Given the description of an element on the screen output the (x, y) to click on. 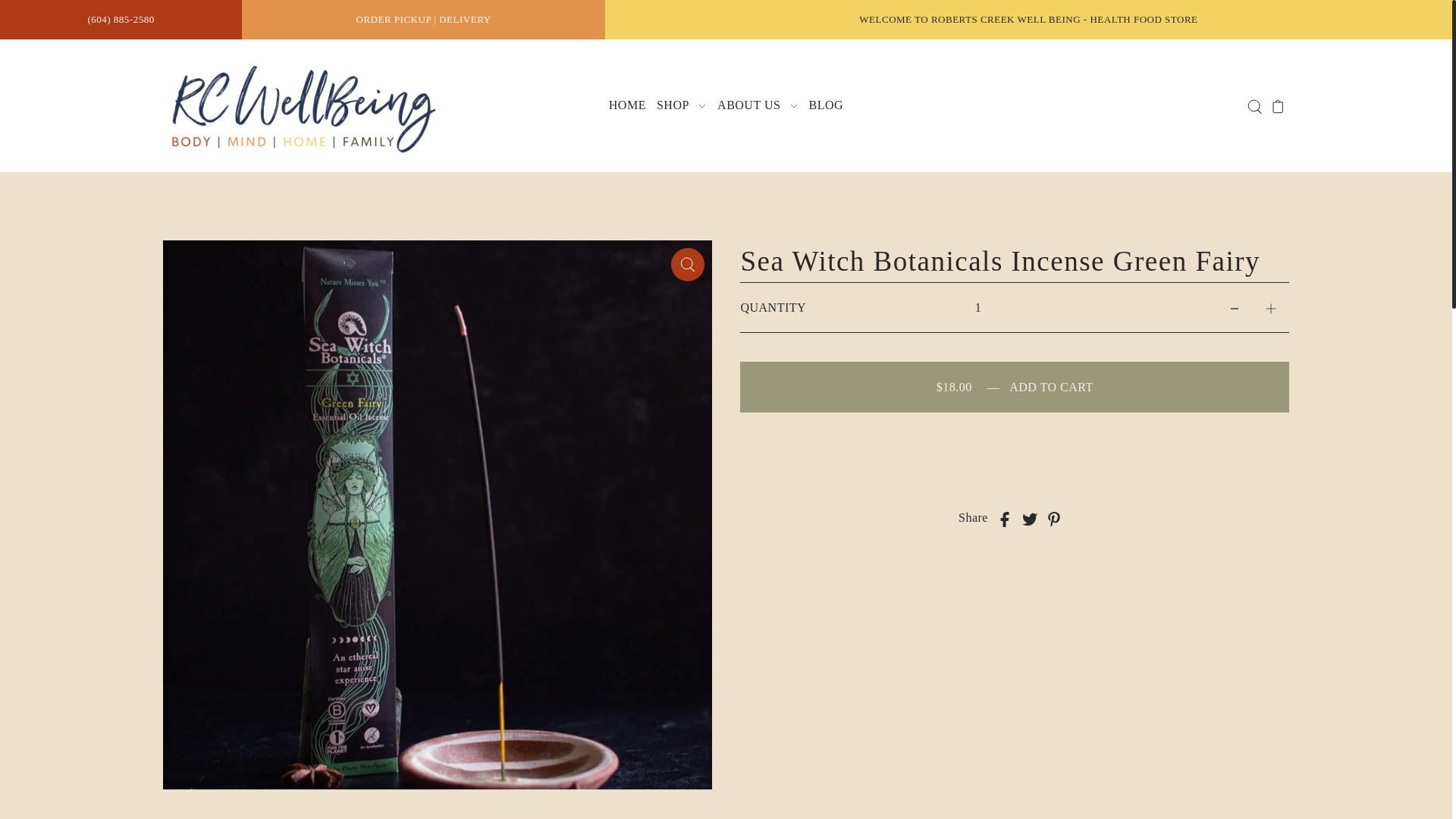
1 (977, 307)
click to zoom-in (687, 264)
HOME (627, 105)
SHOP (680, 105)
ABOUT US (757, 105)
BLOG (825, 105)
